Given the description of an element on the screen output the (x, y) to click on. 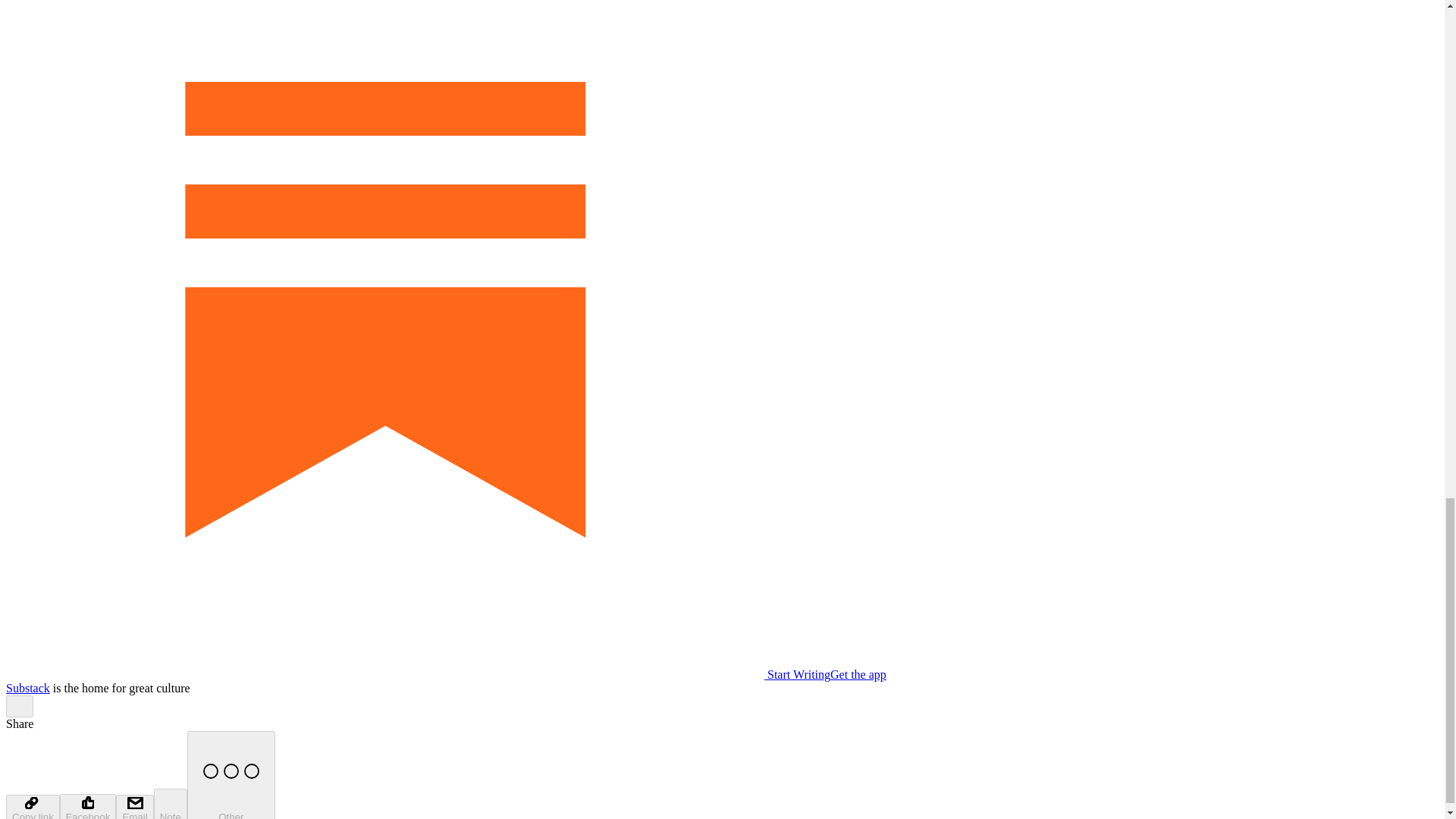
Start Writing (417, 674)
Get the app (857, 674)
Substack (27, 687)
